Given the description of an element on the screen output the (x, y) to click on. 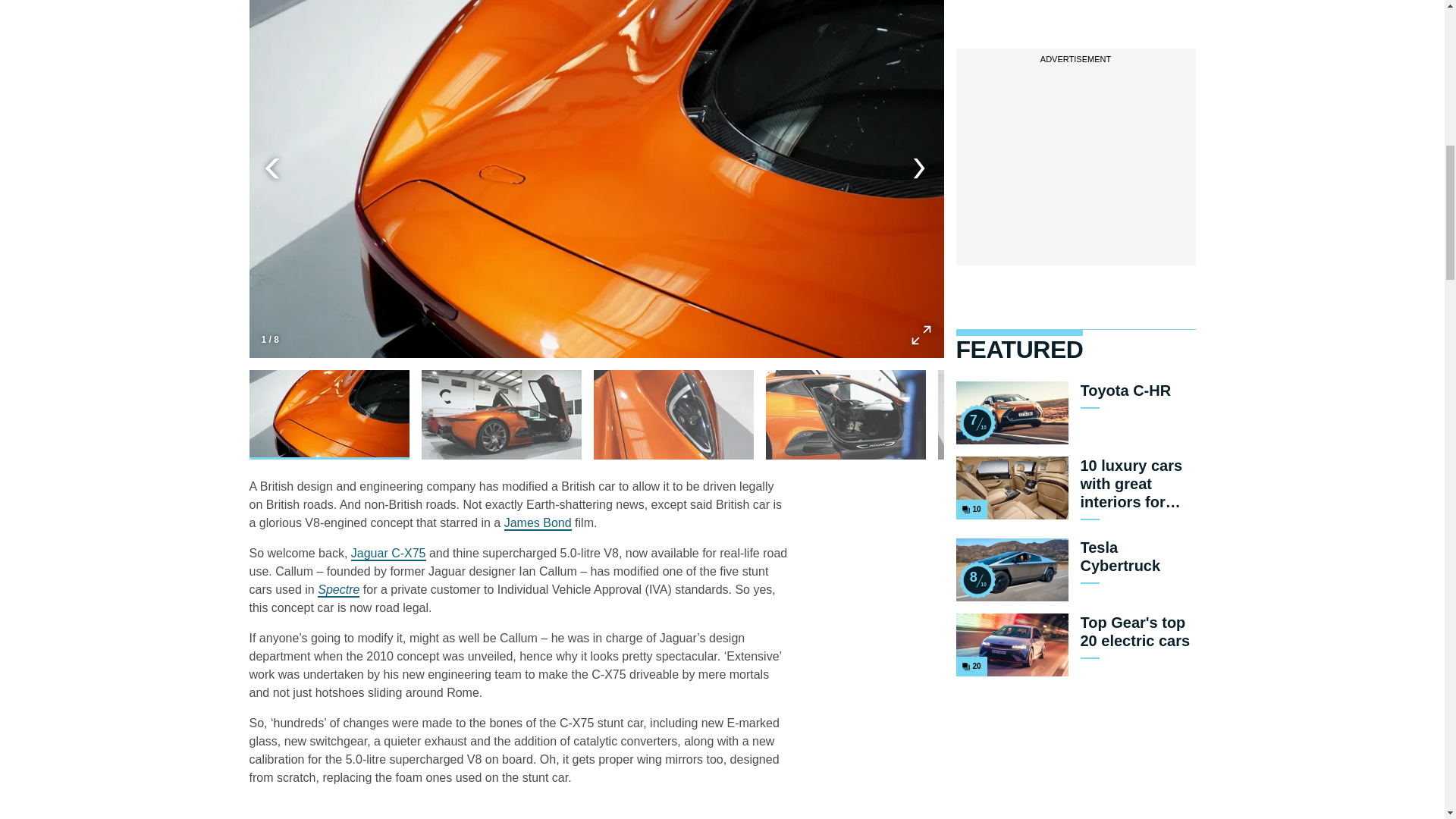
Bond special: driving SPECTRE's very evil Jaguar C-X75 (388, 554)
How good is SPECTRE? TopGear.com reviews the new Bond film (976, 422)
James Bond 25: 007's best and worst cars of all time (976, 579)
